Given the description of an element on the screen output the (x, y) to click on. 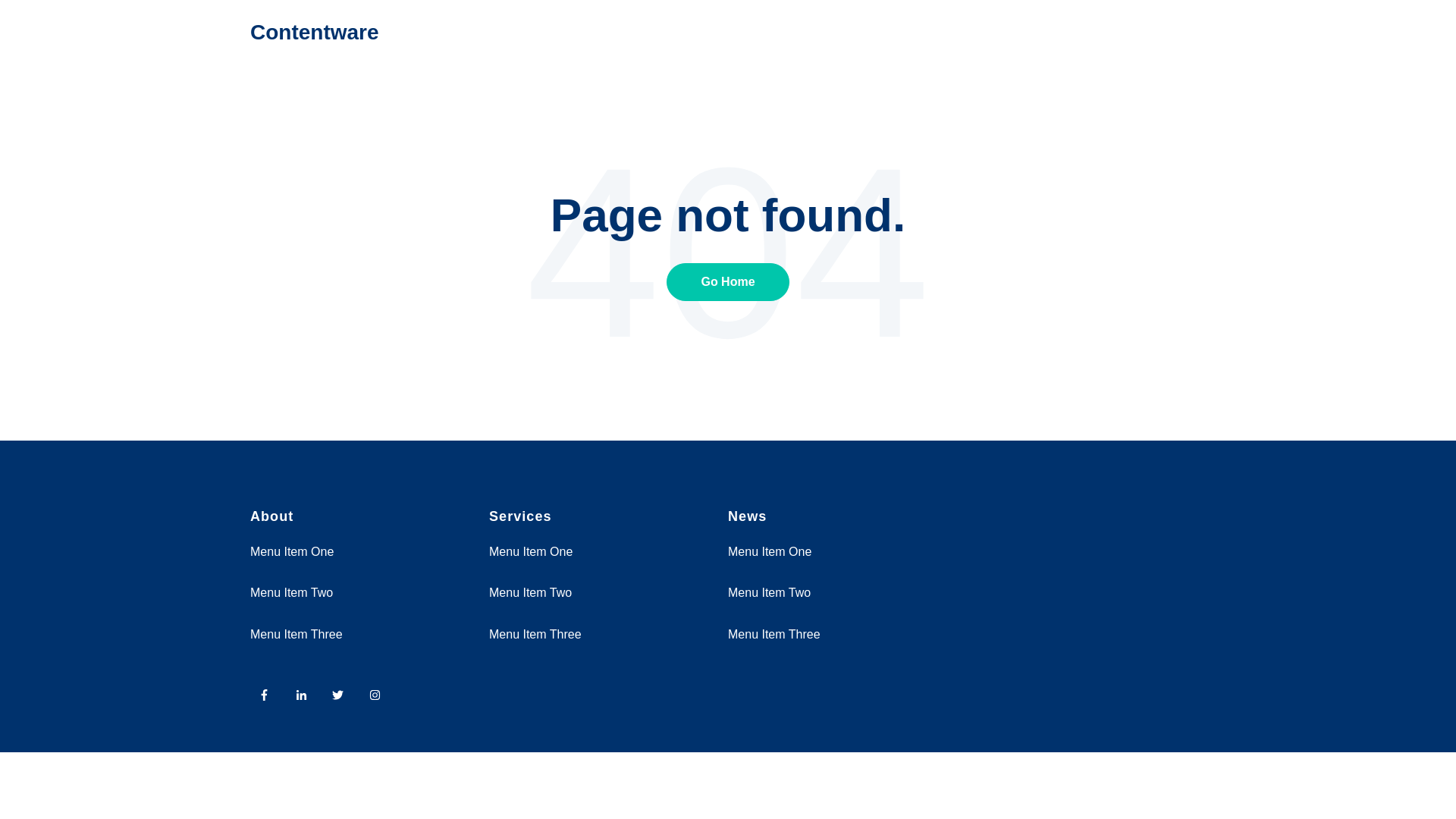
Menu Item One (530, 551)
Menu Item Three (774, 634)
Follow us on Twitter (337, 695)
Menu Item Two (291, 592)
Go Home (727, 281)
Follow us on LinkedIn (301, 695)
Follow us on Facebook (268, 699)
Follow us on Instagram (374, 695)
Follow us on Facebook (264, 695)
Menu Item Two (769, 592)
